Given the description of an element on the screen output the (x, y) to click on. 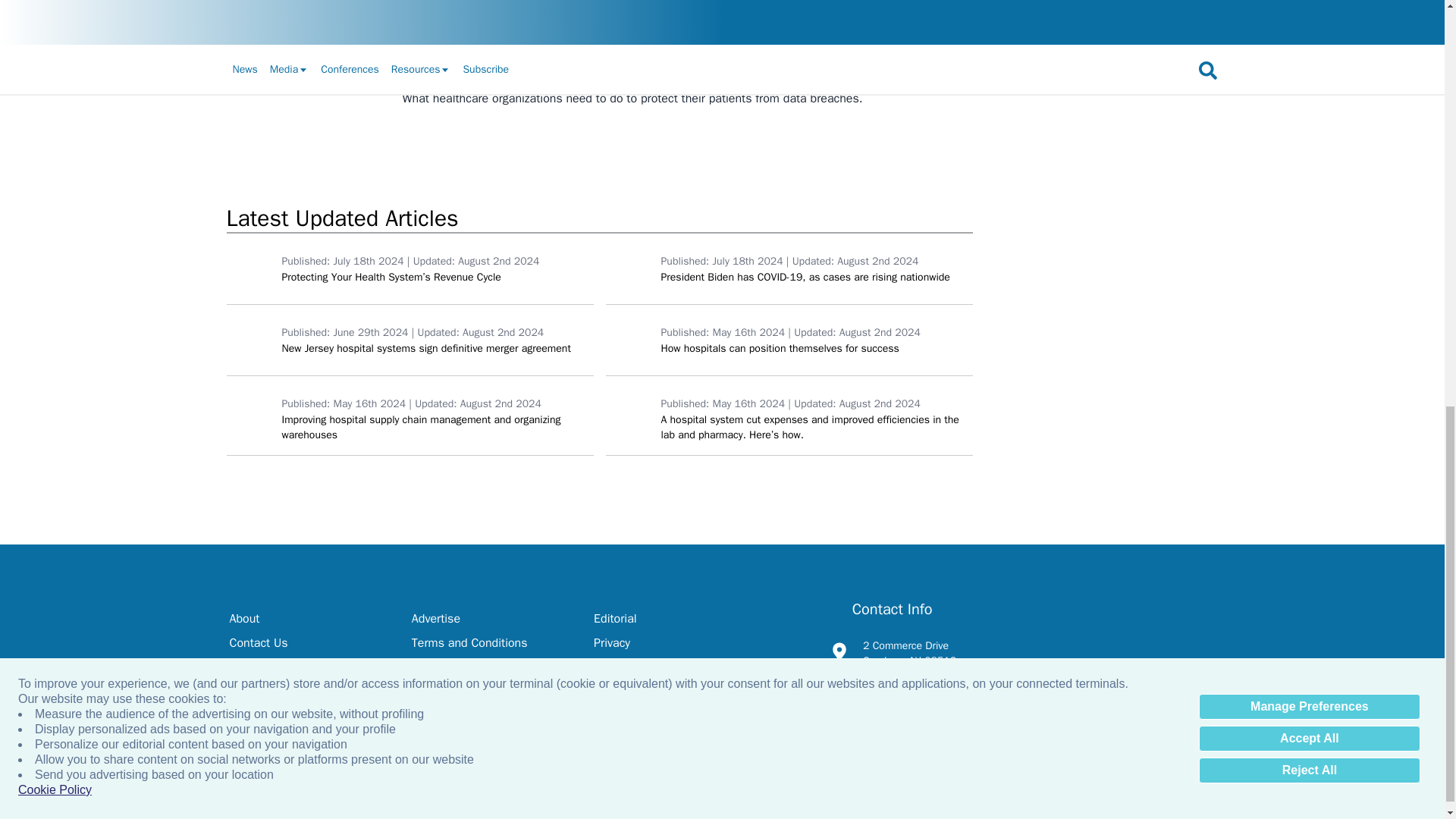
Image: Saint Peter's Healthcare System (250, 338)
Image: The White House (629, 267)
How hospitals can position themselves for success (629, 338)
